Given the description of an element on the screen output the (x, y) to click on. 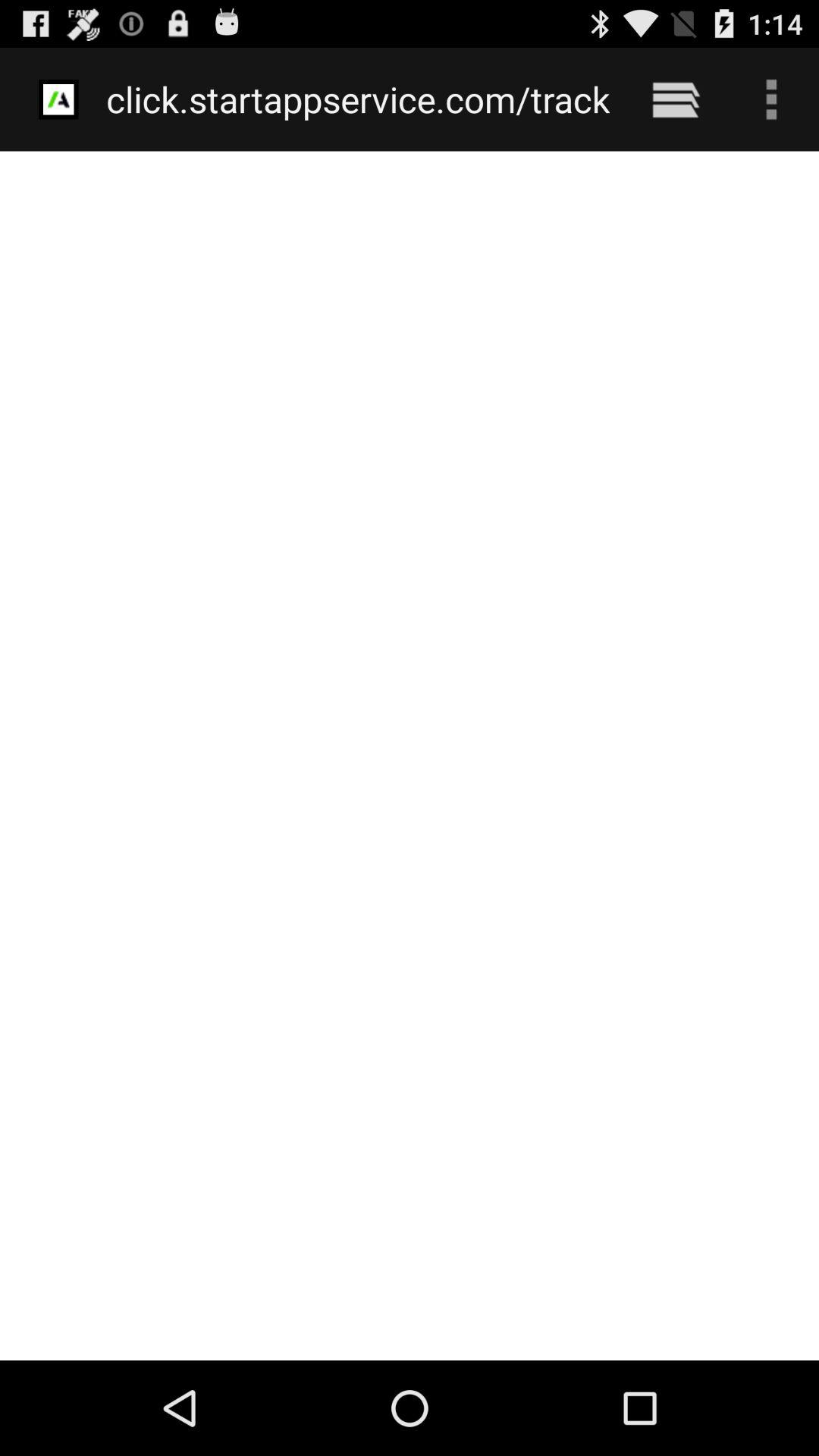
turn on the item at the center (409, 755)
